Given the description of an element on the screen output the (x, y) to click on. 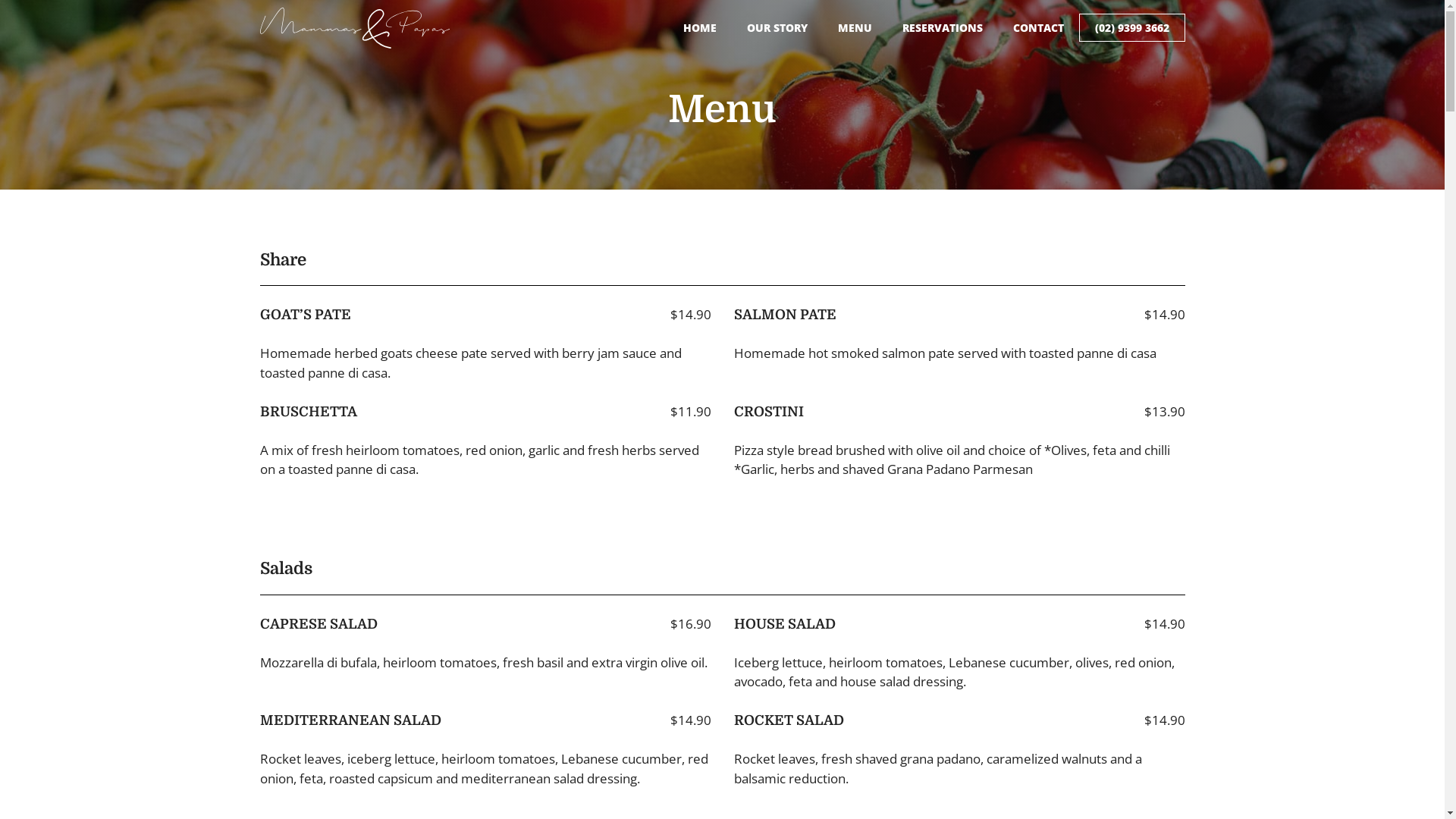
HOME Element type: text (699, 27)
(02) 9399 3662 Element type: text (1131, 27)
MENU Element type: text (854, 27)
Mammas and Papas Ristorante and Pizzeria Element type: hover (353, 25)
Mammas and Papas Ristorante and Pizzeria Element type: hover (353, 27)
CONTACT Element type: text (1038, 27)
RESERVATIONS Element type: text (942, 27)
OUR STORY Element type: text (776, 27)
